Given the description of an element on the screen output the (x, y) to click on. 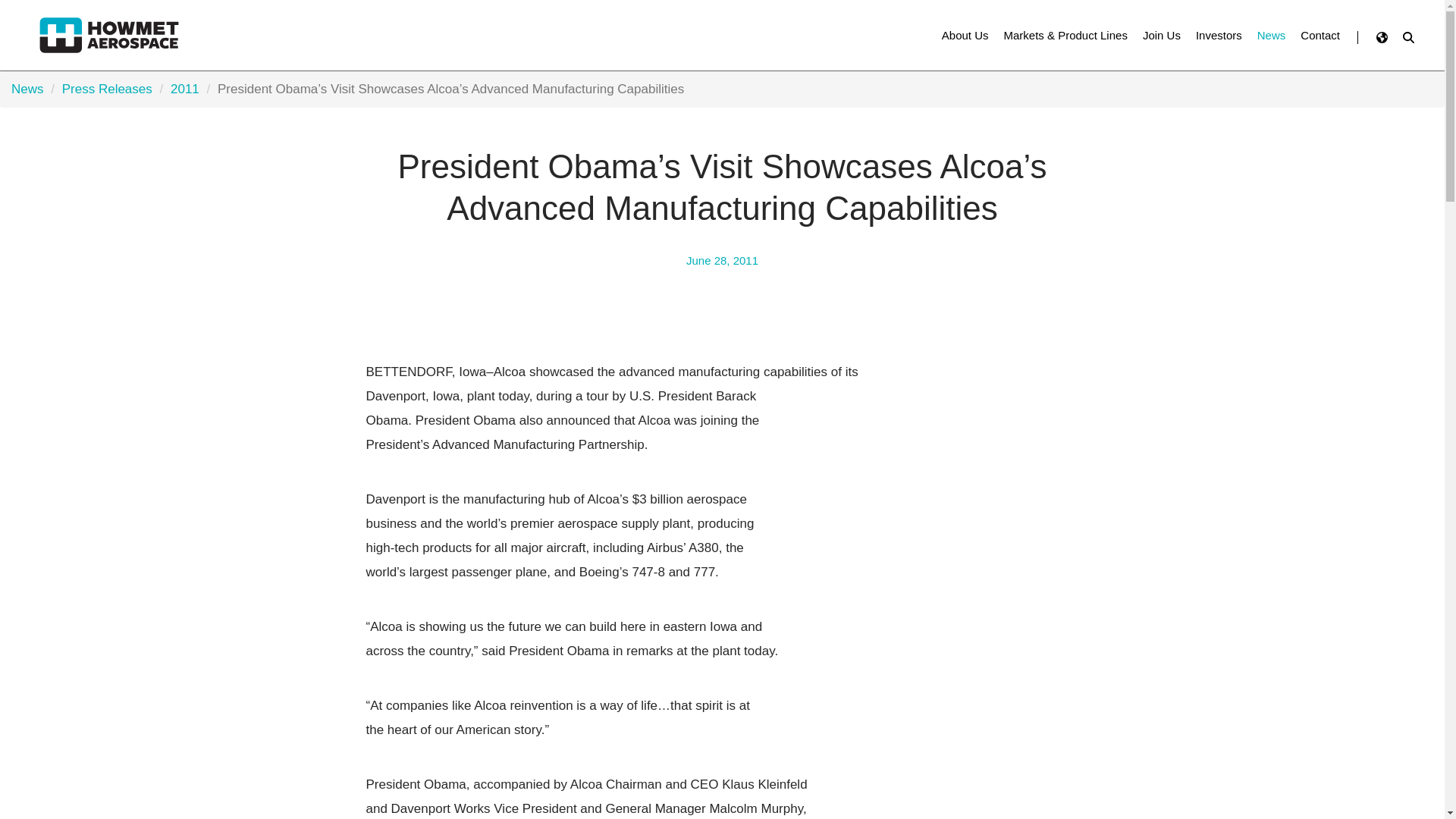
Join Us (1161, 34)
About Us (965, 34)
Investors (1218, 34)
